Given the description of an element on the screen output the (x, y) to click on. 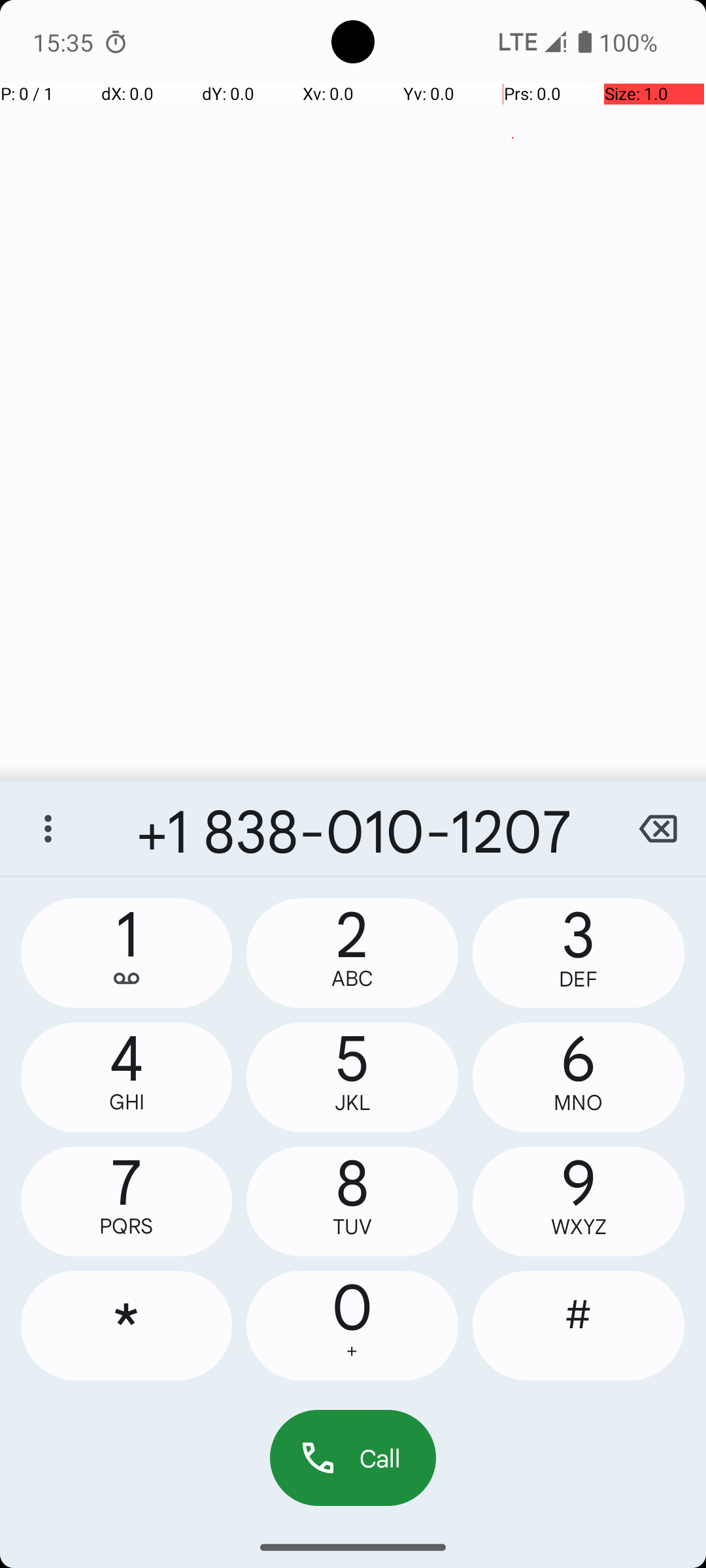
+1 838-010-1207 Element type: android.widget.EditText (352, 828)
